Given the description of an element on the screen output the (x, y) to click on. 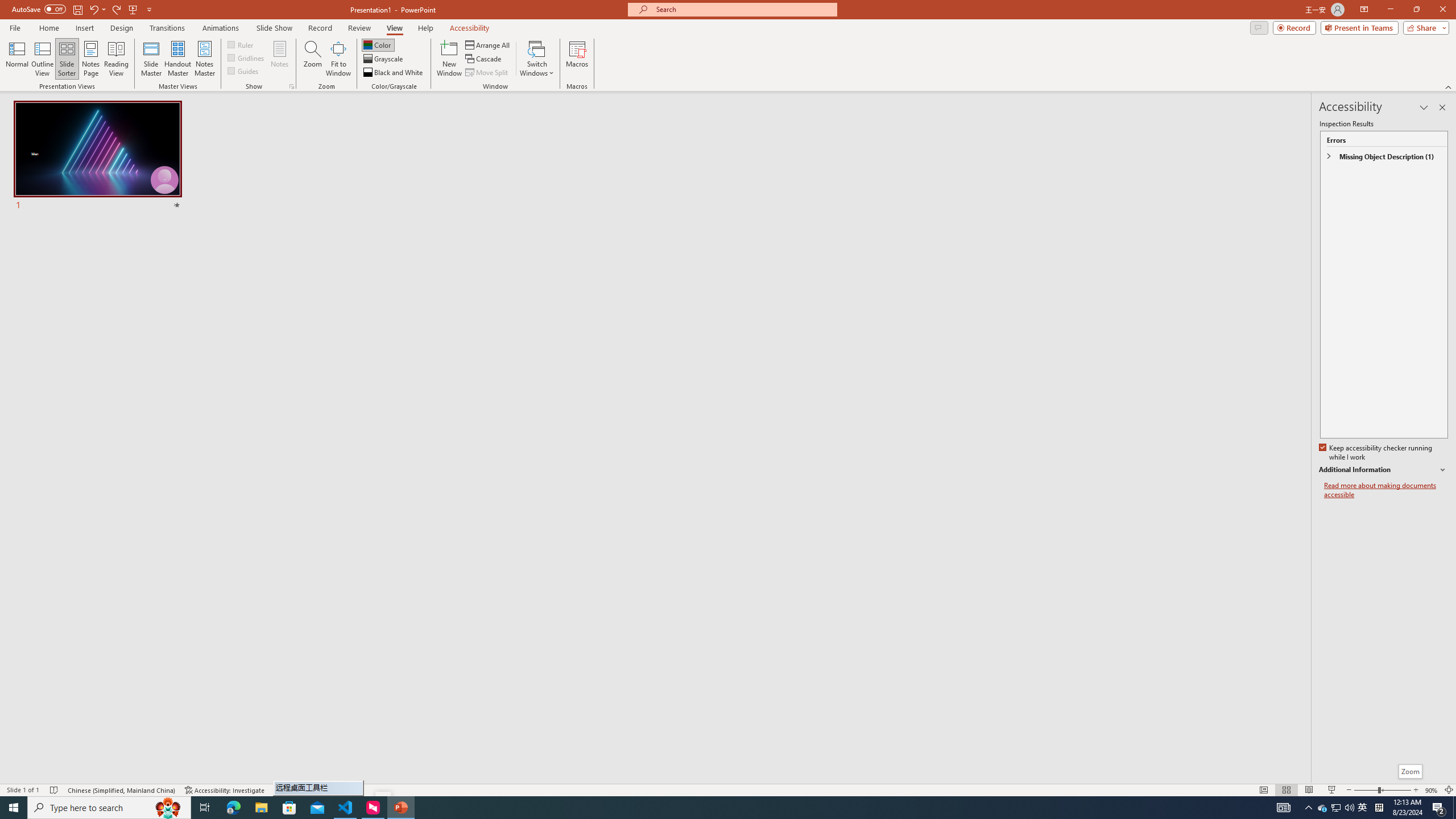
Gridlines (246, 56)
Outline View (42, 58)
Switch Windows (537, 58)
Black and White (393, 72)
